Given the description of an element on the screen output the (x, y) to click on. 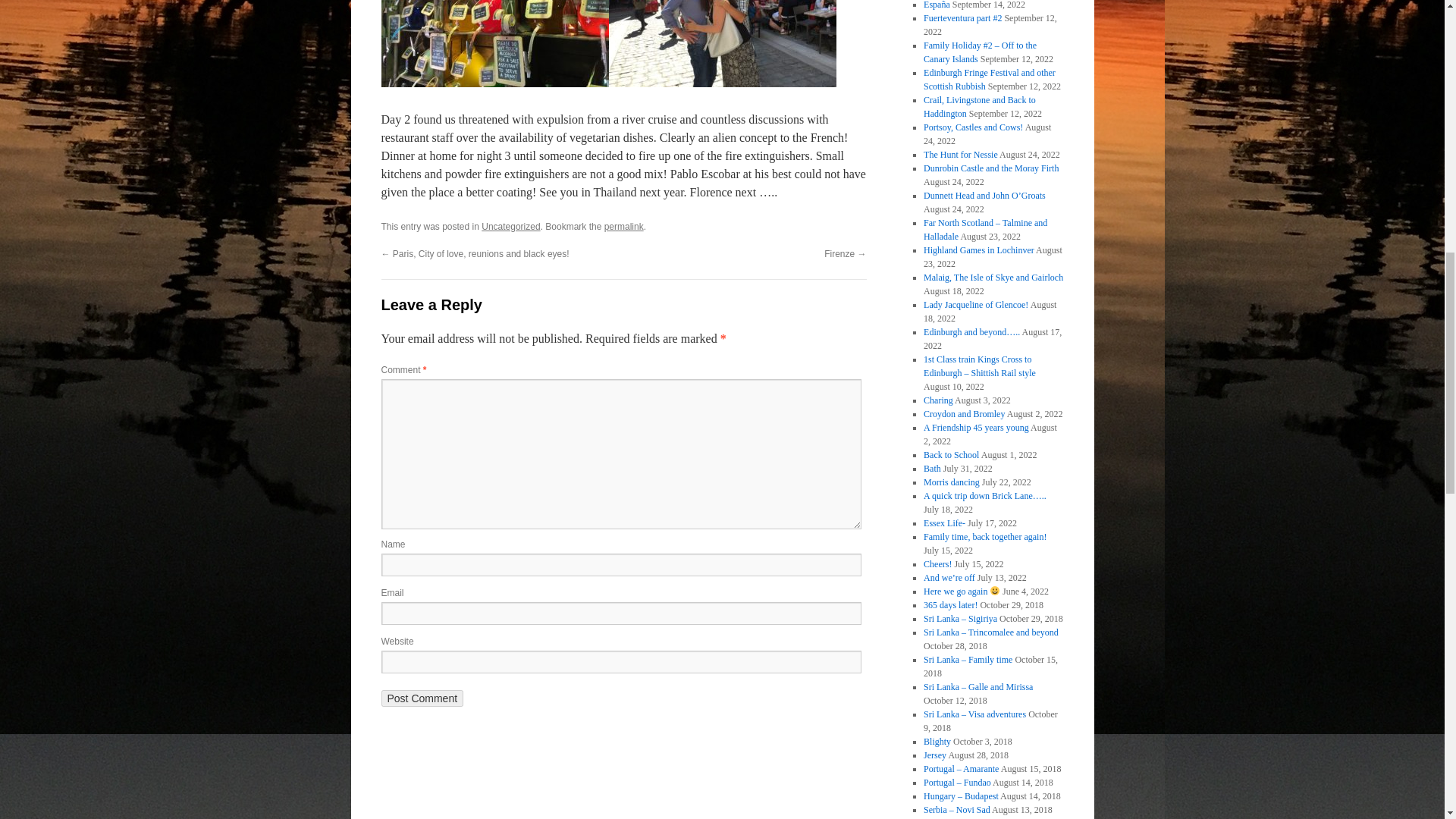
permalink (623, 226)
Post Comment (421, 698)
Uncategorized (510, 226)
Post Comment (421, 698)
Edinburgh Fringe Festival and other Scottish Rubbish (989, 79)
Permalink to Lunacy in Lyon! (623, 226)
